Given the description of an element on the screen output the (x, y) to click on. 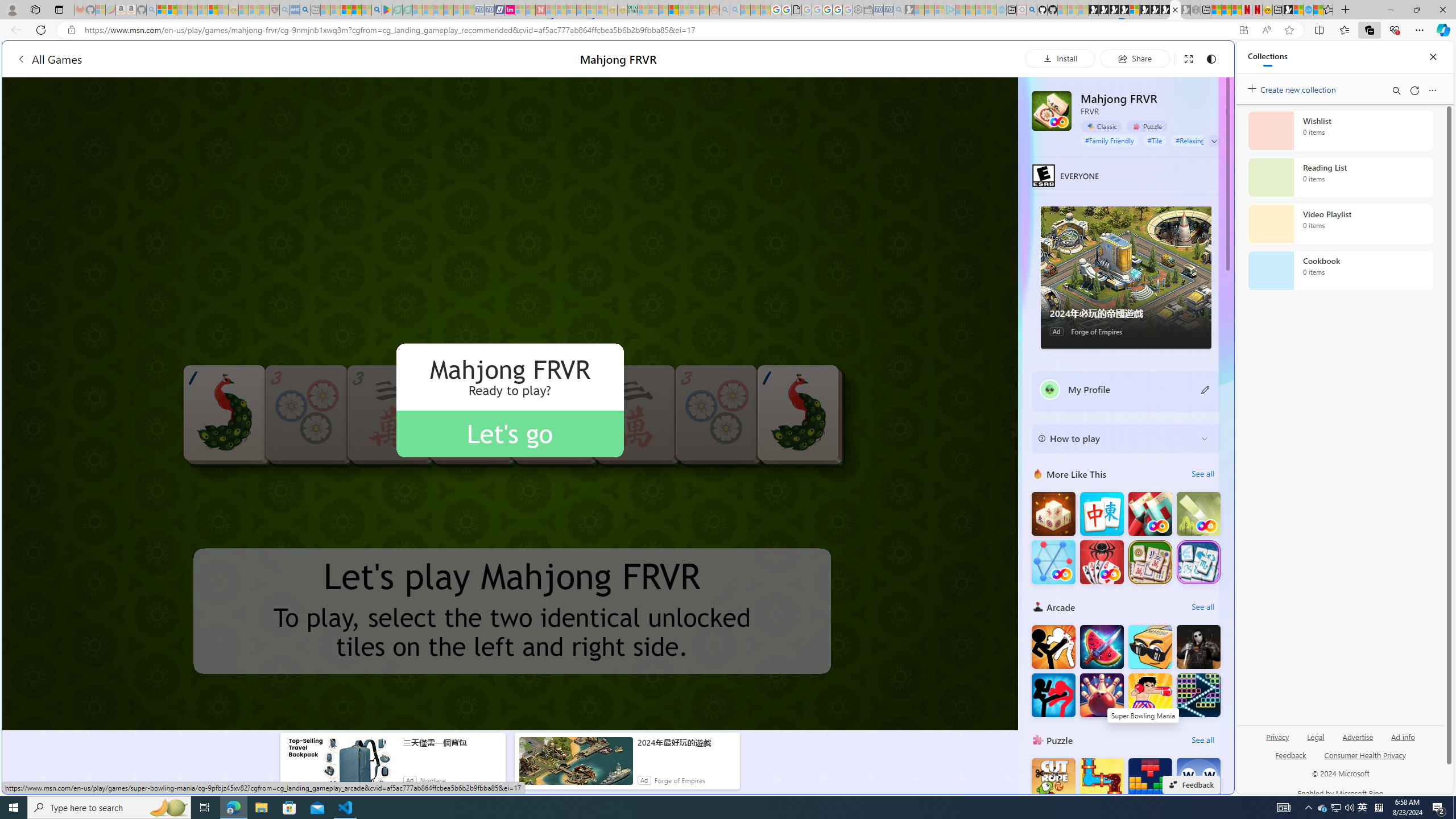
Install (1060, 58)
Class: control (1214, 140)
App available. Install Mahjong FRVR (1243, 29)
Class: button edit-icon (1205, 388)
All Games (216, 58)
Sign in to your account (1134, 9)
Unblock FRVR (1198, 513)
